Given the description of an element on the screen output the (x, y) to click on. 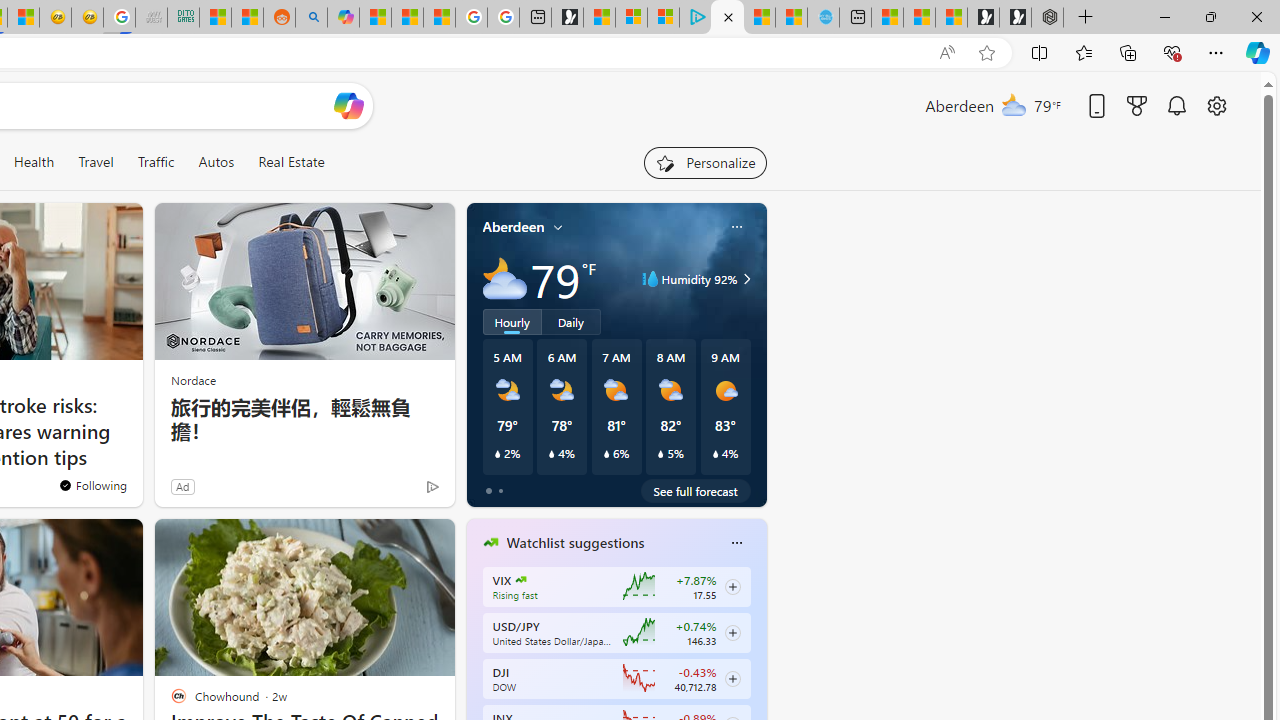
See full forecast (695, 490)
Watchlist suggestions (575, 543)
